Given the description of an element on the screen output the (x, y) to click on. 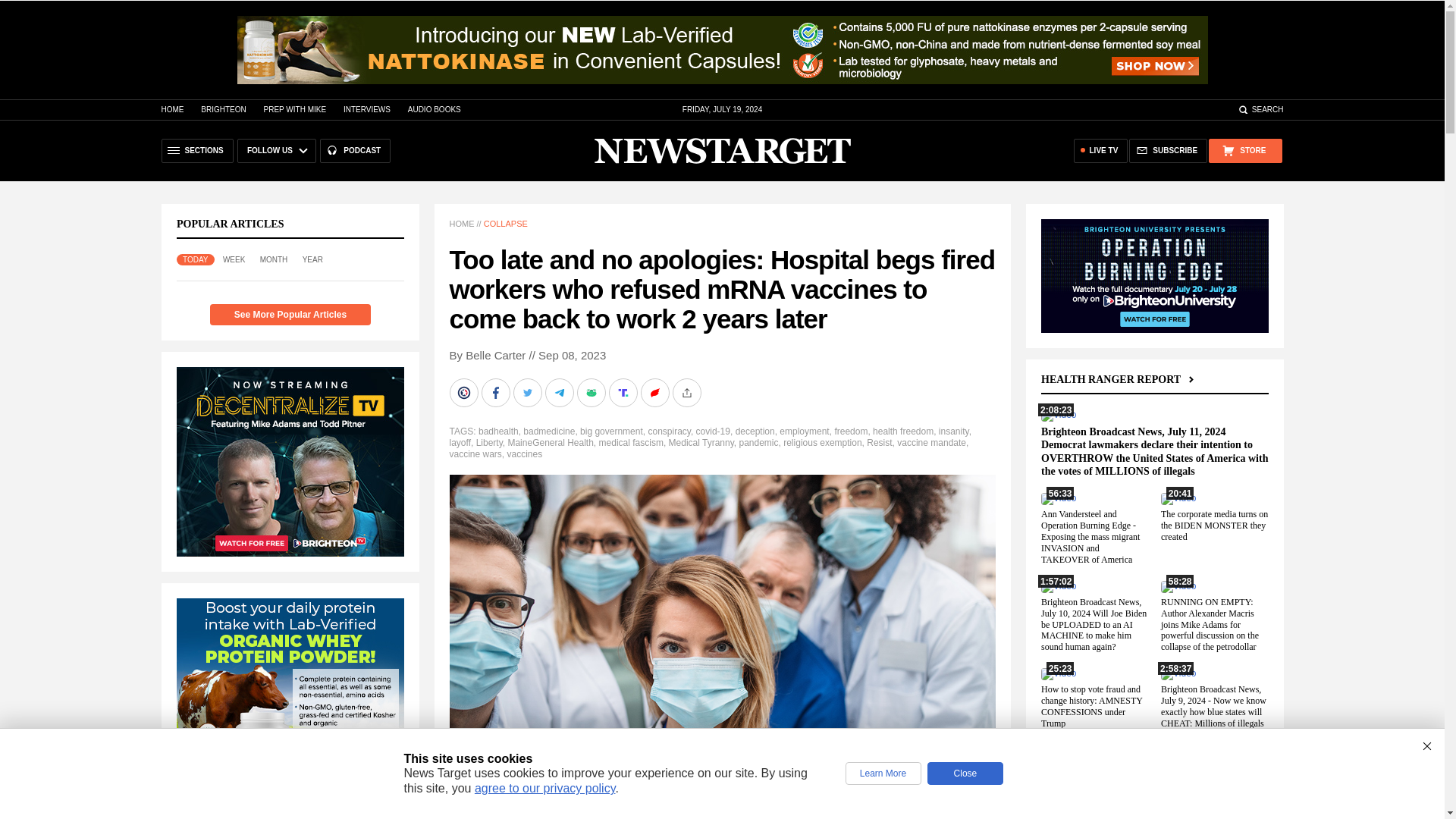
Share on Telegram (560, 392)
Search (1260, 109)
Share on Gettr (655, 392)
2:08:23 (1058, 414)
1:57:02 (1058, 585)
SUBSCRIBE (1168, 150)
Share on GAB (592, 392)
HOME (171, 109)
HEALTH RANGER REPORT (1119, 378)
25:23 (1058, 673)
Share on Brighteon.Social (464, 392)
